Given the description of an element on the screen output the (x, y) to click on. 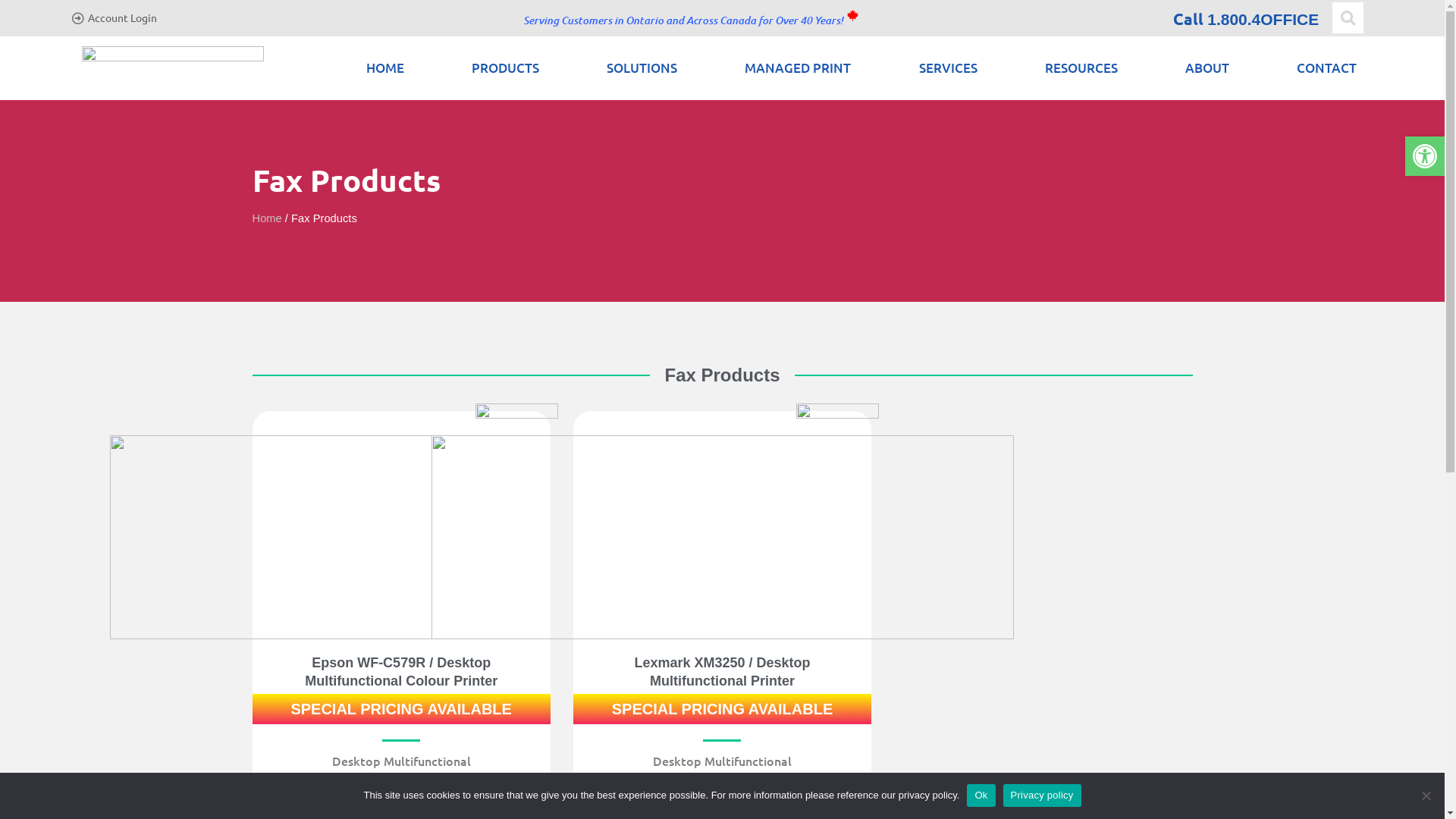
CONTACT Element type: text (1326, 67)
MANAGED PRINT Element type: text (797, 67)
VIEW PRODUCT Element type: text (400, 798)
PRODUCTS Element type: text (504, 67)
RESOURCES Element type: text (1080, 67)
1.800.4OFFICE Element type: text (1262, 19)
SERVICES Element type: text (947, 67)
VIEW PRODUCT Element type: text (721, 798)
SOLUTIONS Element type: text (642, 67)
ABOUT Element type: text (1206, 67)
HOME Element type: text (384, 67)
Account Login Element type: text (121, 17)
Home Element type: text (266, 218)
Ok Element type: text (980, 795)
Open toolbar
Accessibility Tools Element type: text (1424, 155)
No Element type: hover (1425, 795)
Privacy policy Element type: text (1042, 795)
